Given the description of an element on the screen output the (x, y) to click on. 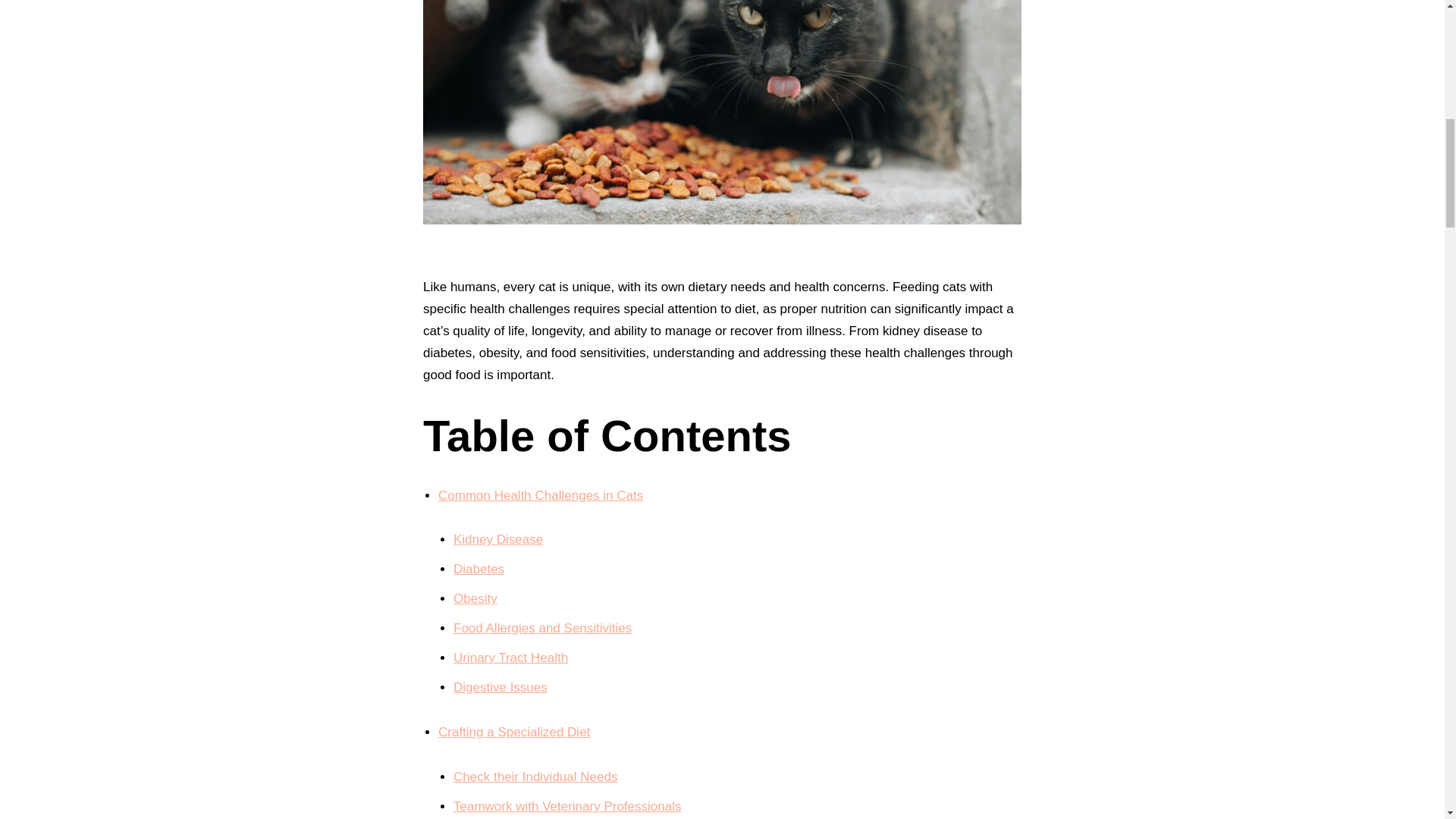
Urinary Tract Health (509, 657)
Diabetes (477, 568)
Teamwork with Veterinary Professionals (566, 806)
Kidney Disease (497, 539)
Food Allergies and Sensitivities (541, 627)
Obesity (474, 598)
Check their Individual Needs (534, 776)
Common Health Challenges in Cats (540, 495)
Crafting a Specialized Diet (513, 731)
Digestive Issues (499, 687)
